Given the description of an element on the screen output the (x, y) to click on. 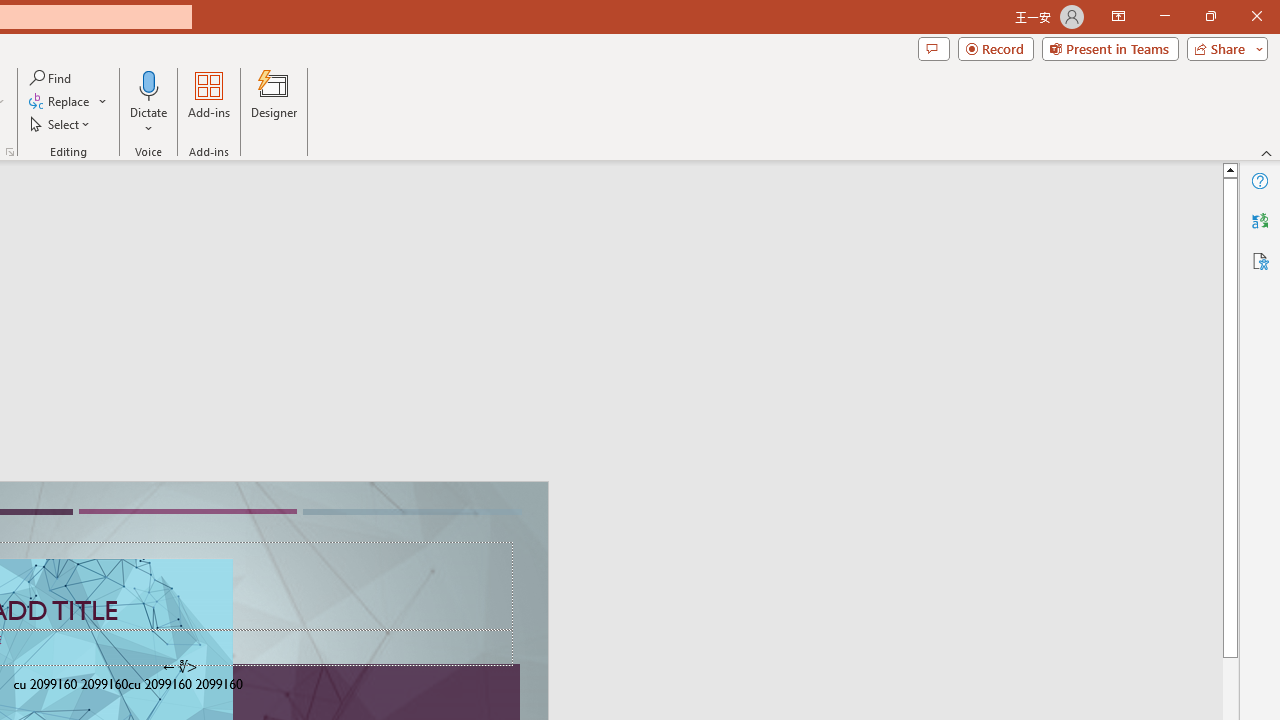
Translator (1260, 220)
Format Object... (9, 151)
Dictate (149, 102)
TextBox 61 (186, 686)
Designer (274, 102)
